Given the description of an element on the screen output the (x, y) to click on. 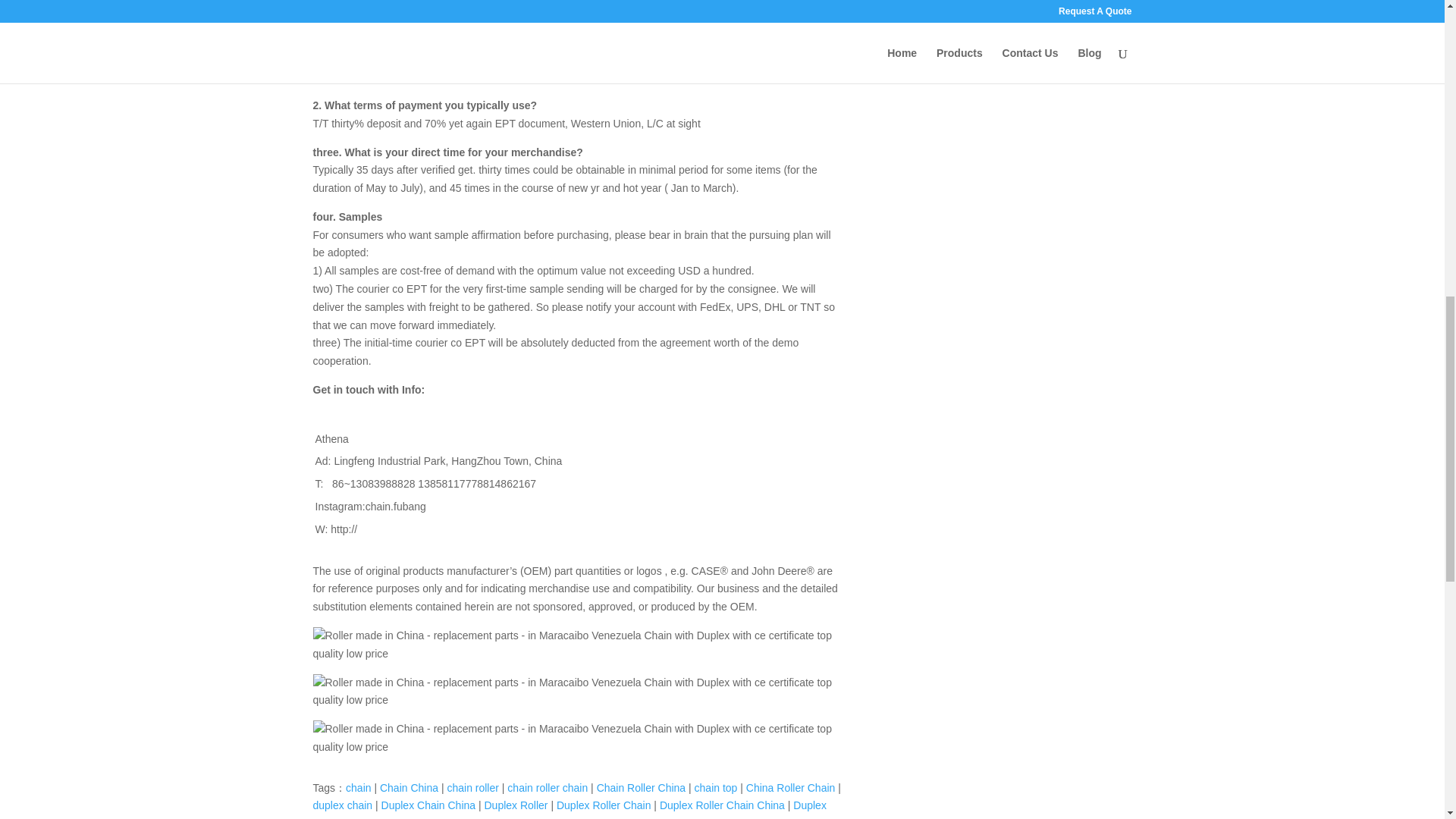
Duplex Chain China (428, 805)
Roller Chain China (485, 818)
Roller Chain Parts (581, 818)
chain roller chain (547, 787)
China Roller Chain (790, 787)
Chain Roller China (640, 787)
roller chain (405, 818)
Chain China (409, 787)
Duplex Roller China (569, 809)
